Given the description of an element on the screen output the (x, y) to click on. 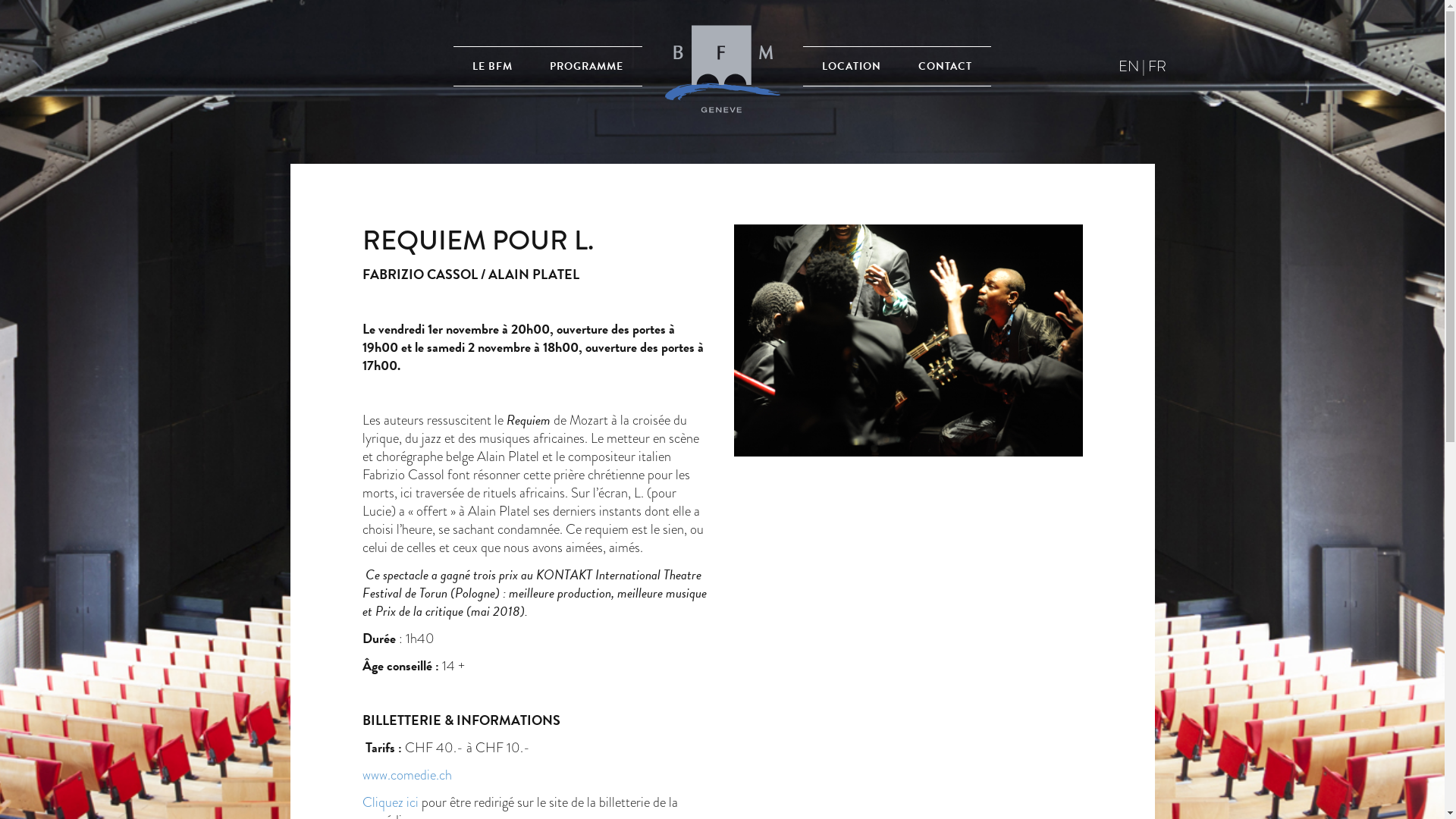
BFM Element type: hover (722, 66)
FR Element type: text (1157, 65)
www.comedie.ch Element type: text (406, 774)
EN Element type: text (1127, 65)
PROGRAMME Element type: text (586, 66)
CONTACT Element type: text (945, 66)
LOCATION Element type: text (851, 66)
Cliquez ici Element type: text (390, 802)
LE BFM Element type: text (492, 66)
